Given the description of an element on the screen output the (x, y) to click on. 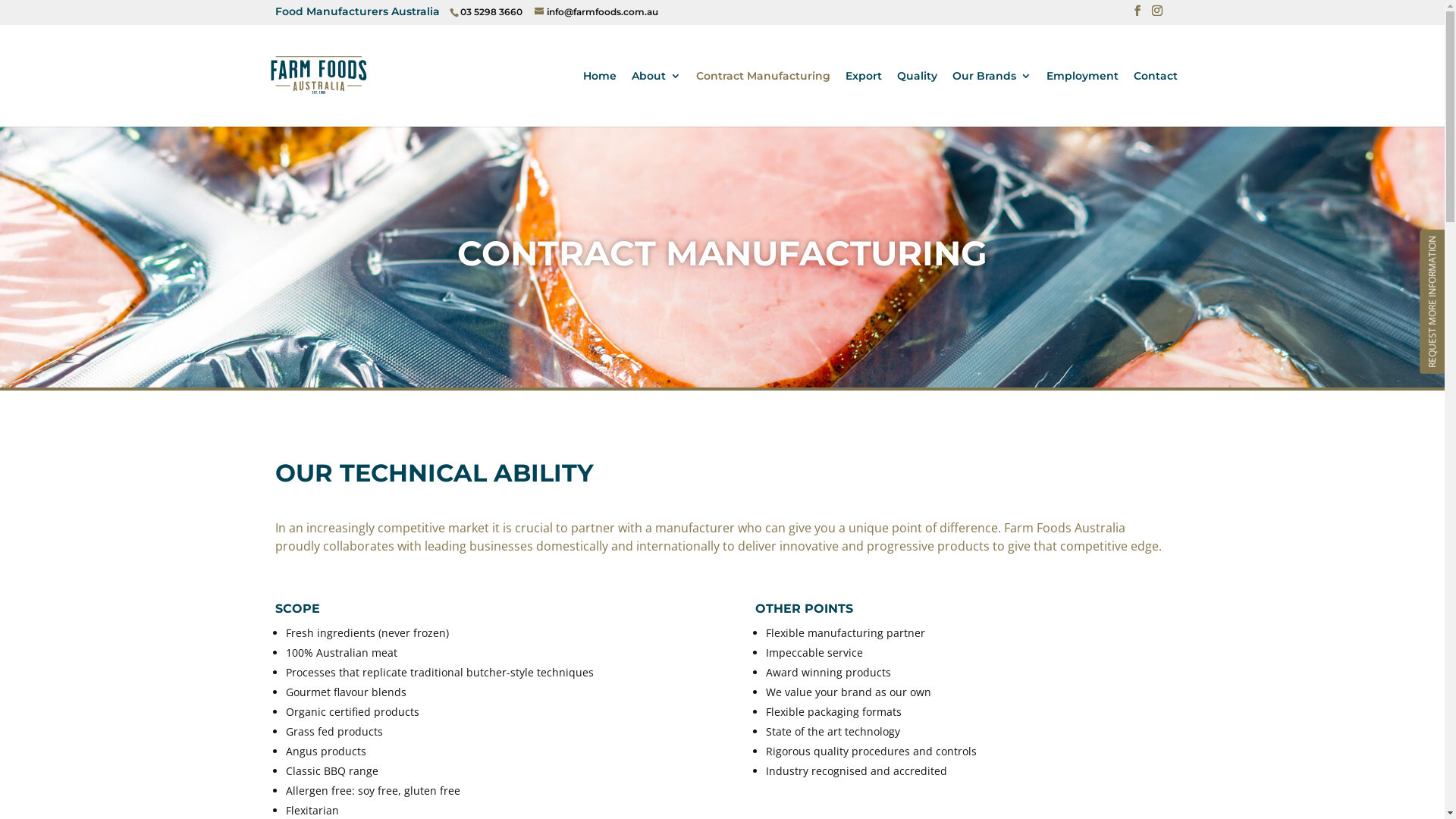
About Element type: text (655, 97)
Contact Element type: text (1154, 97)
Employment Element type: text (1082, 97)
Contract Manufacturing Element type: text (763, 97)
info@farmfoods.com.au Element type: text (595, 11)
Export Element type: text (862, 97)
Our Brands Element type: text (991, 97)
Quality Element type: text (916, 97)
Home Element type: text (598, 97)
03 5298 3660 Element type: text (489, 11)
